Given the description of an element on the screen output the (x, y) to click on. 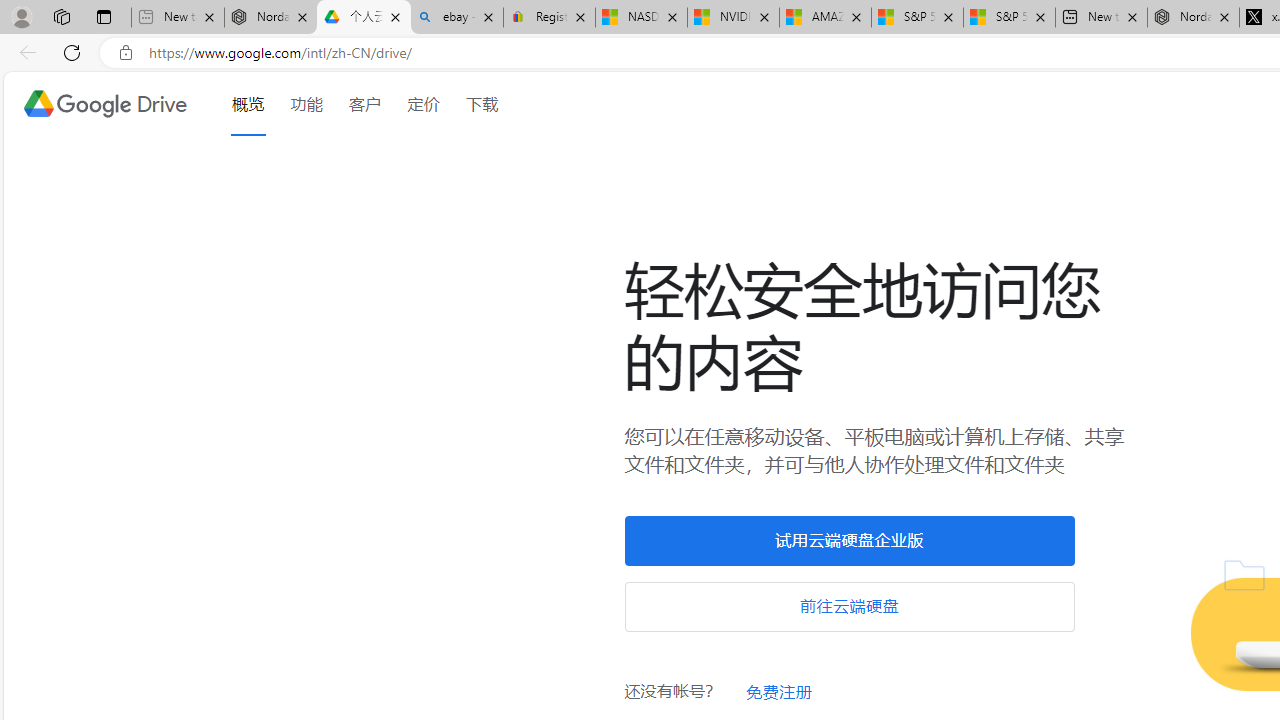
Google Drive (104, 103)
S&P 500, Nasdaq end lower, weighed by Nvidia dip | Watch (1008, 17)
